Given the description of an element on the screen output the (x, y) to click on. 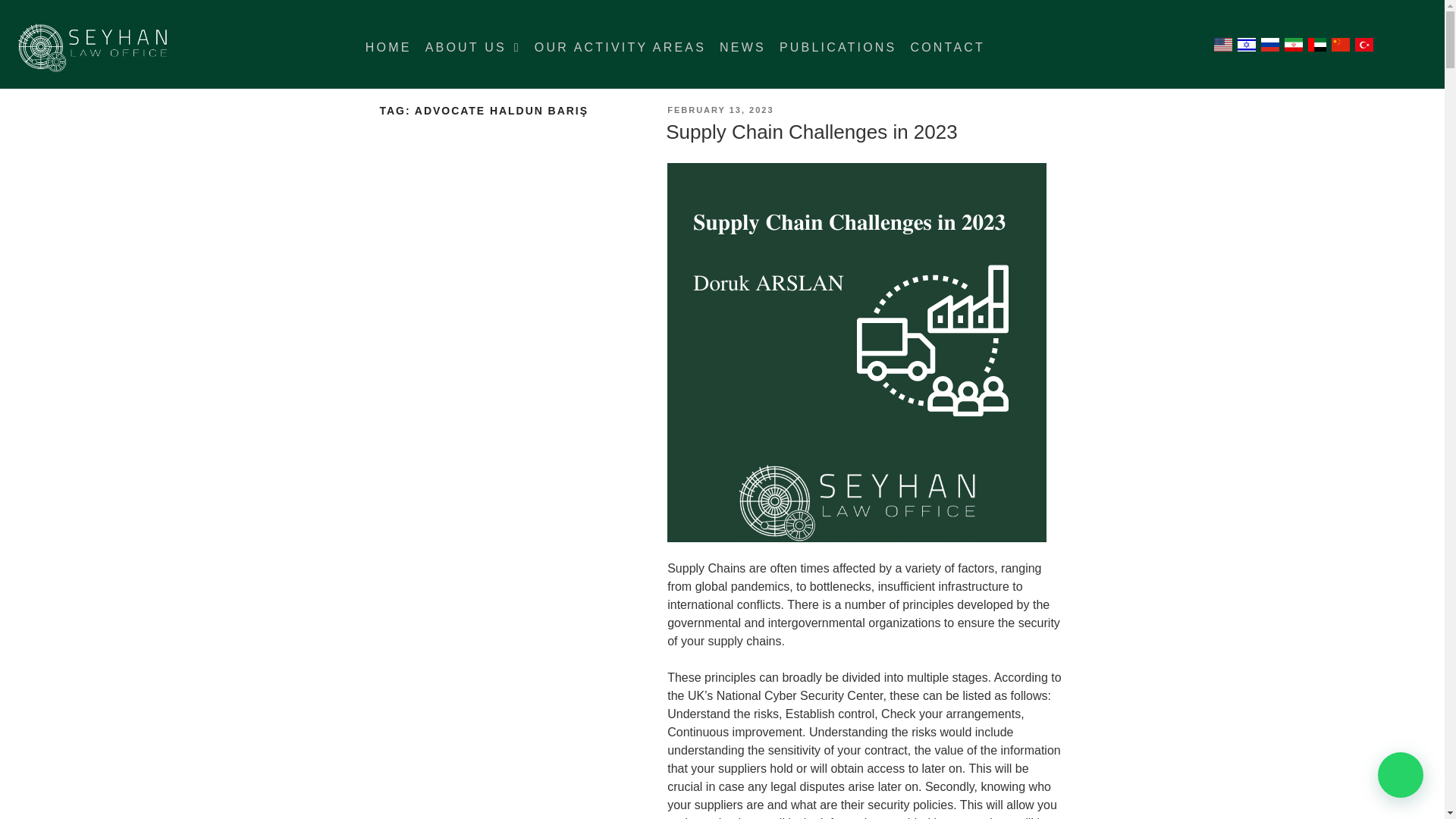
PUBLICATIONS (838, 47)
NEWS (743, 47)
HOME (388, 47)
CONTACT (946, 47)
ABOUT US (473, 47)
OUR ACTIVITY AREAS (620, 47)
